Given the description of an element on the screen output the (x, y) to click on. 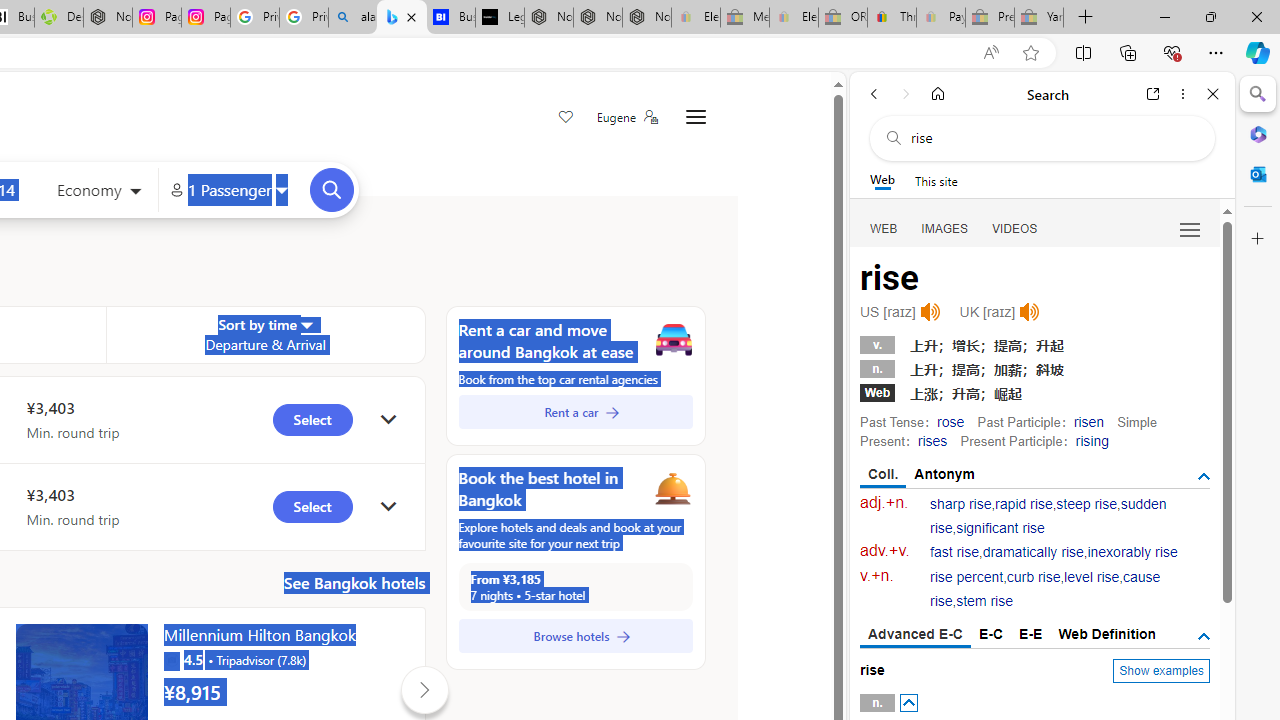
cause rise (1045, 589)
rapid rise (1023, 503)
Payments Terms of Use | eBay.com - Sleeping (940, 17)
Sorter (306, 324)
rises (932, 440)
Press Room - eBay Inc. - Sleeping (989, 17)
alabama high school quarterback dies - Search (353, 17)
level rise (1091, 577)
Forward (906, 93)
Tripadvisor (171, 660)
Search Filter, WEB (884, 228)
